Given the description of an element on the screen output the (x, y) to click on. 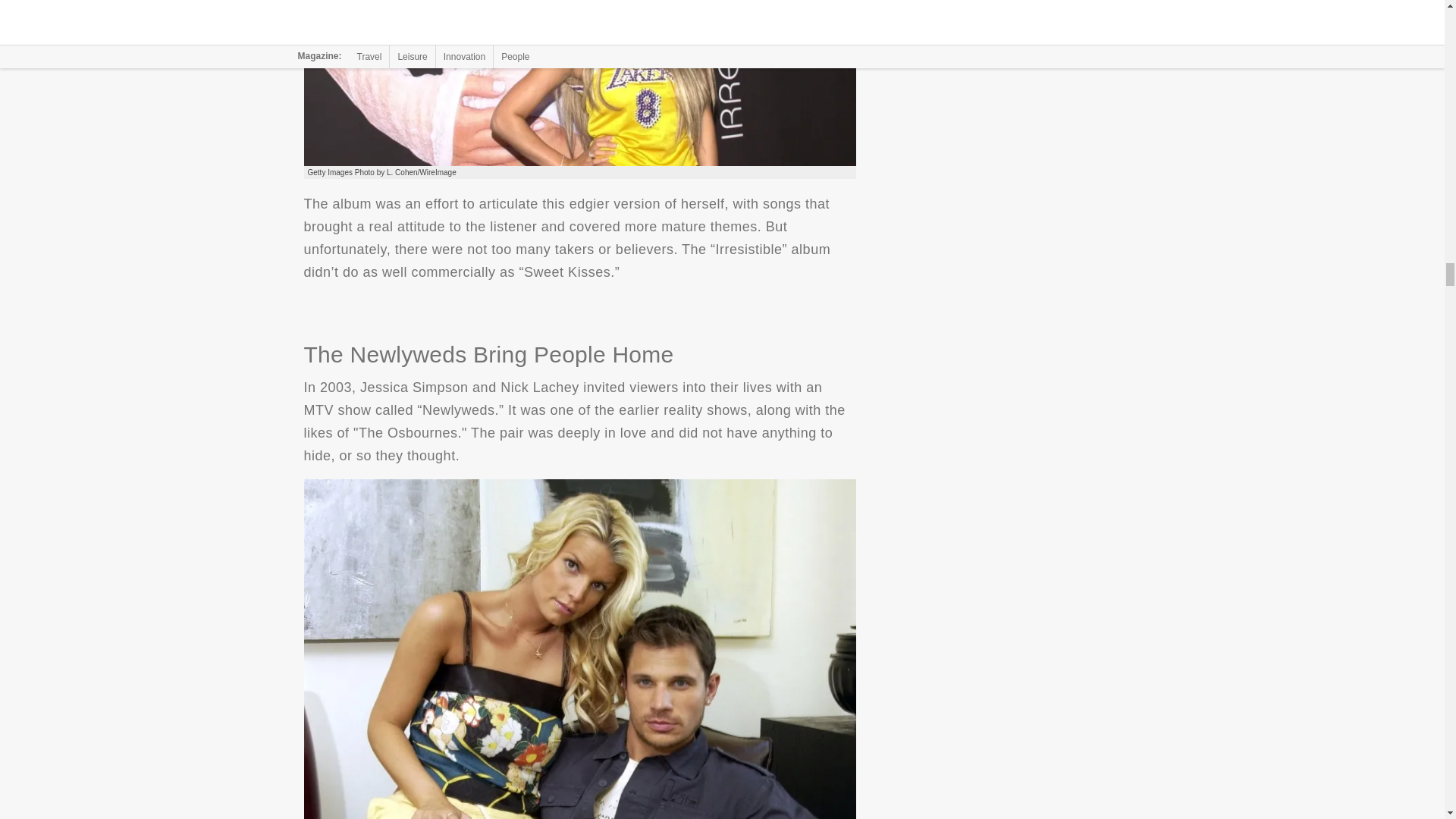
All Grown Up (579, 83)
